Given the description of an element on the screen output the (x, y) to click on. 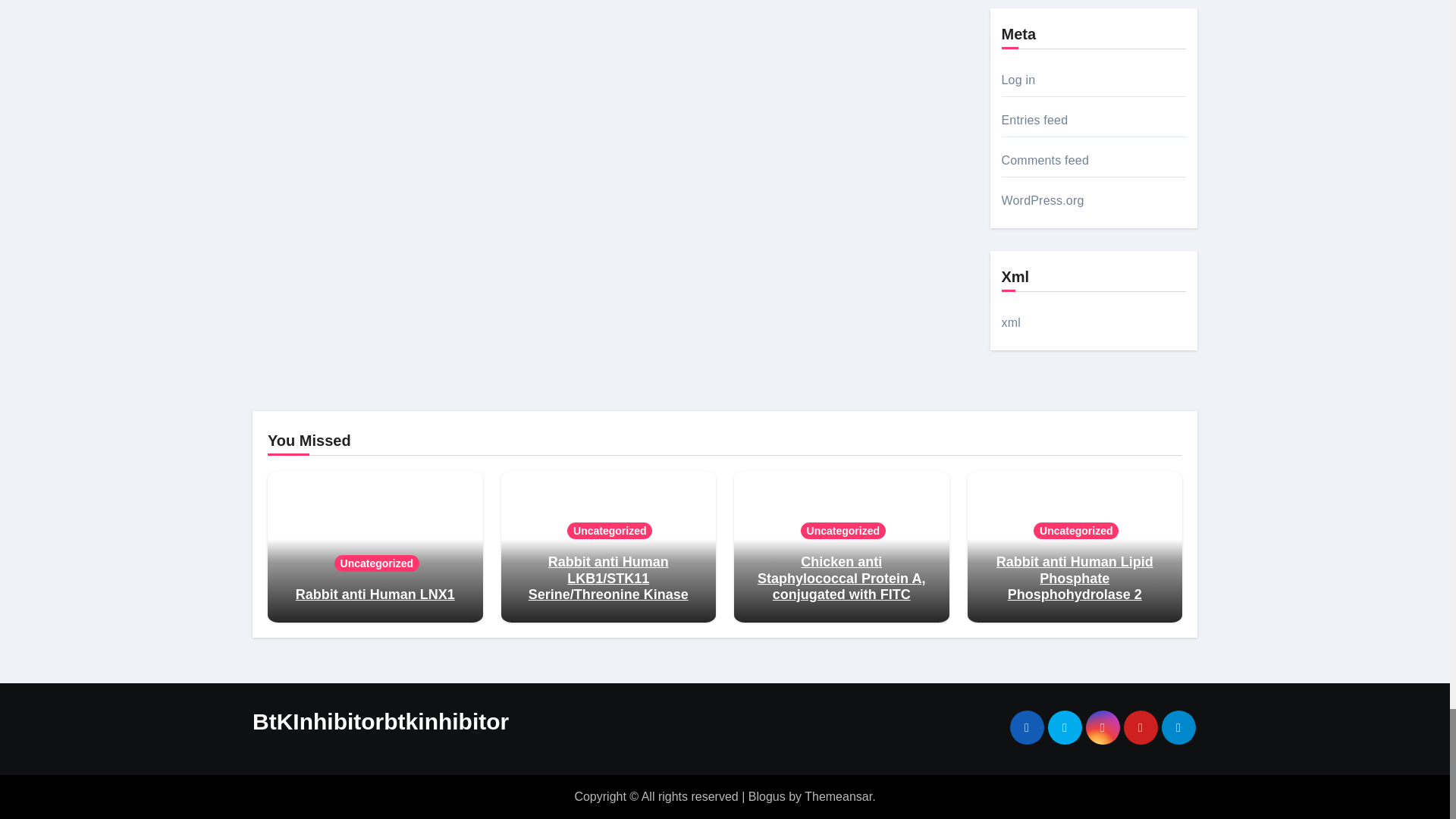
Permalink to: Rabbit anti Human LNX1 (374, 594)
